Given the description of an element on the screen output the (x, y) to click on. 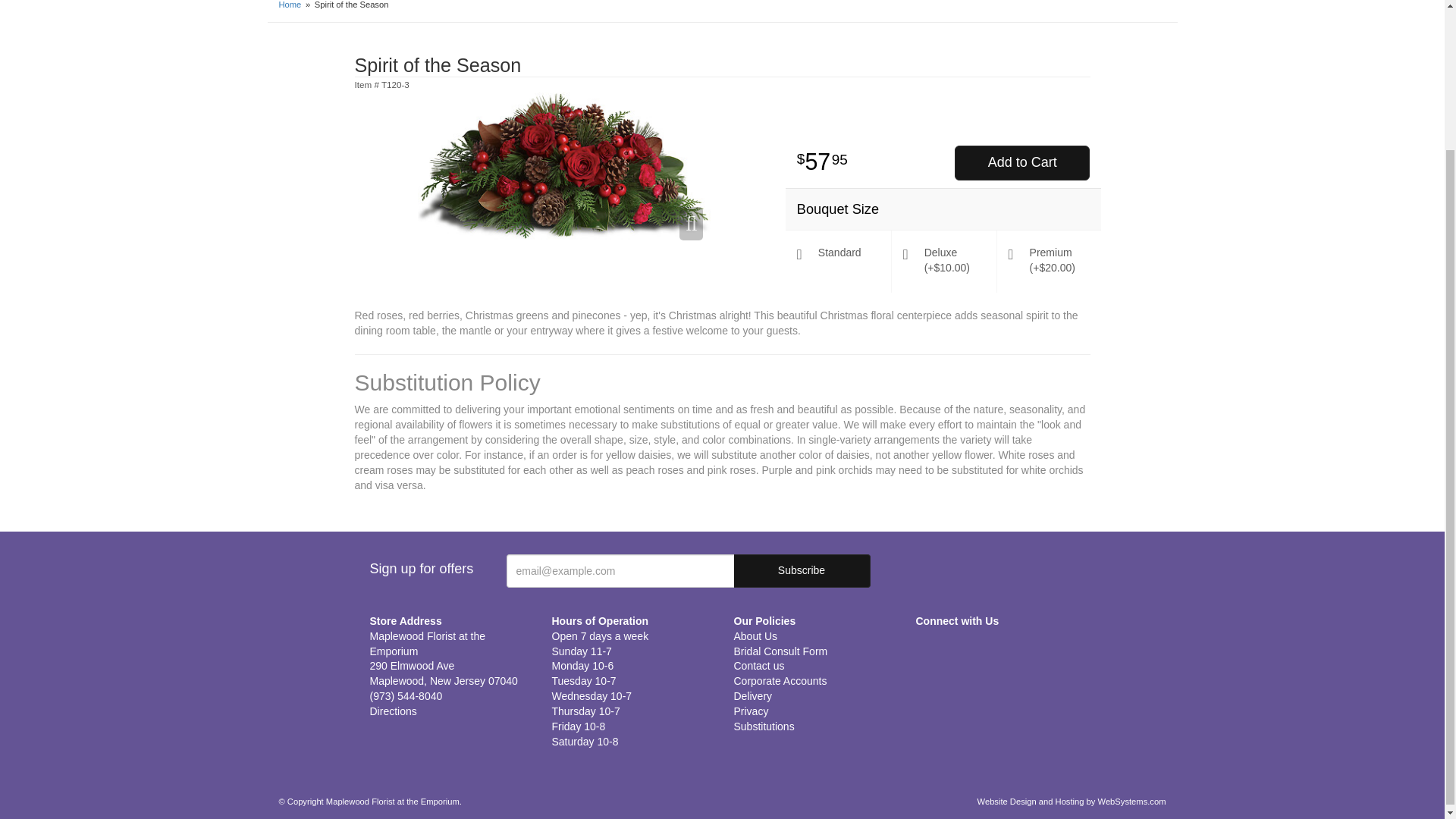
Subscribe (801, 571)
